Given the description of an element on the screen output the (x, y) to click on. 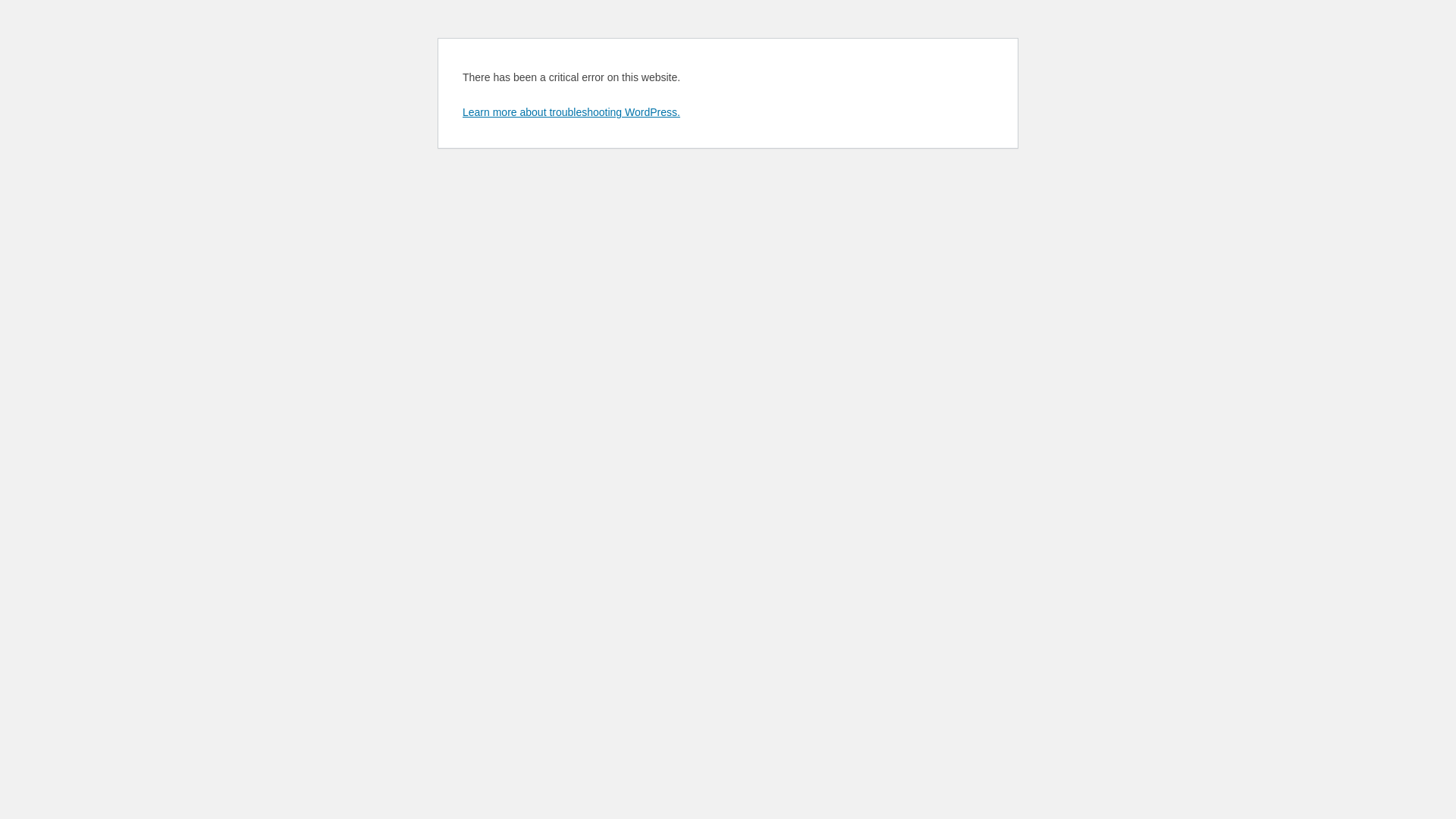
Learn more about troubleshooting WordPress. Element type: text (571, 112)
